Given the description of an element on the screen output the (x, y) to click on. 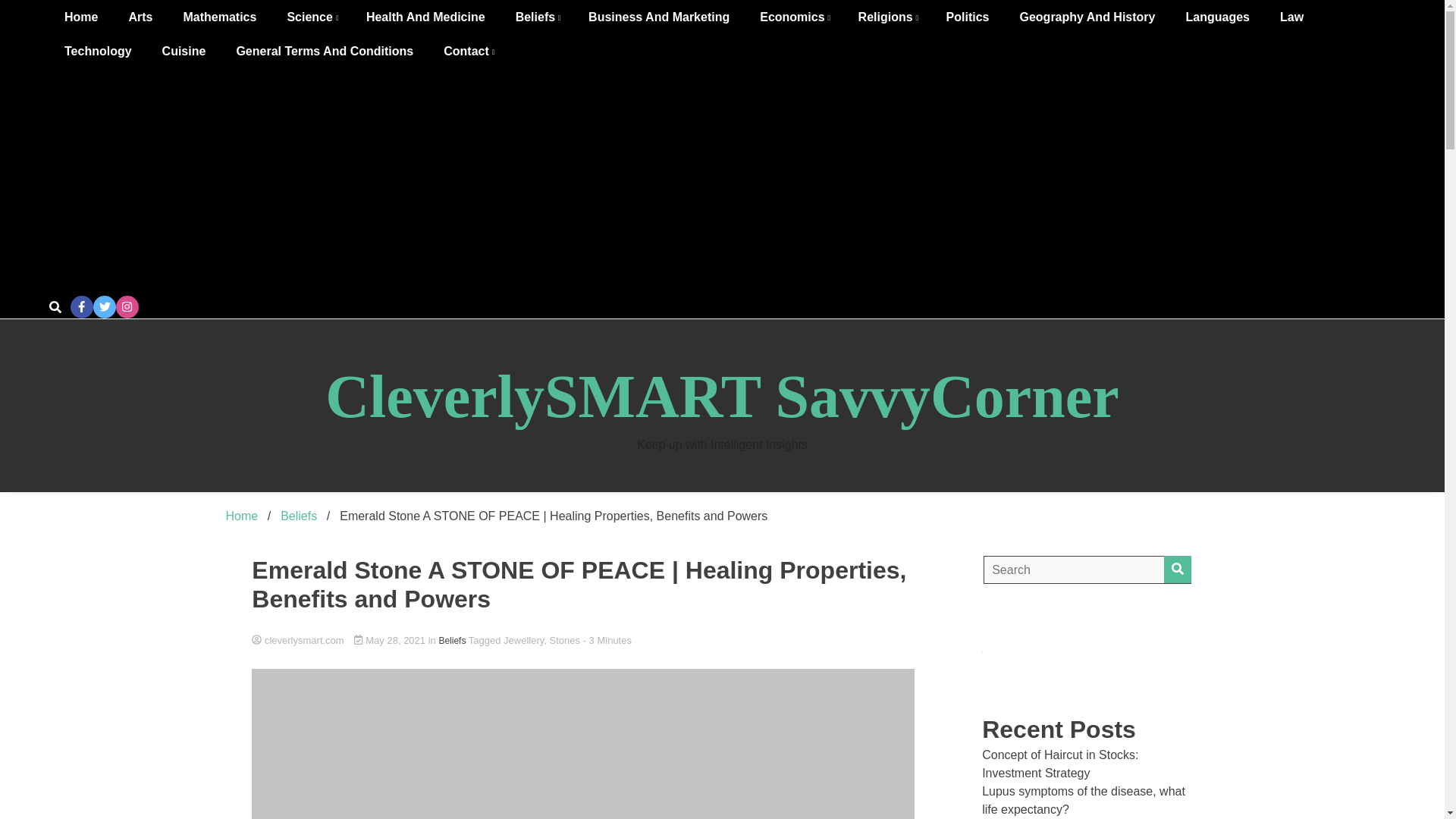
Cuisine (184, 50)
Geography And History (1087, 17)
Languages (1216, 17)
Estimated Reading Time of Article (607, 640)
Arts (140, 17)
Business And Marketing (658, 17)
Home (81, 17)
Politics (967, 17)
Science (310, 17)
Health And Medicine (425, 17)
